Given the description of an element on the screen output the (x, y) to click on. 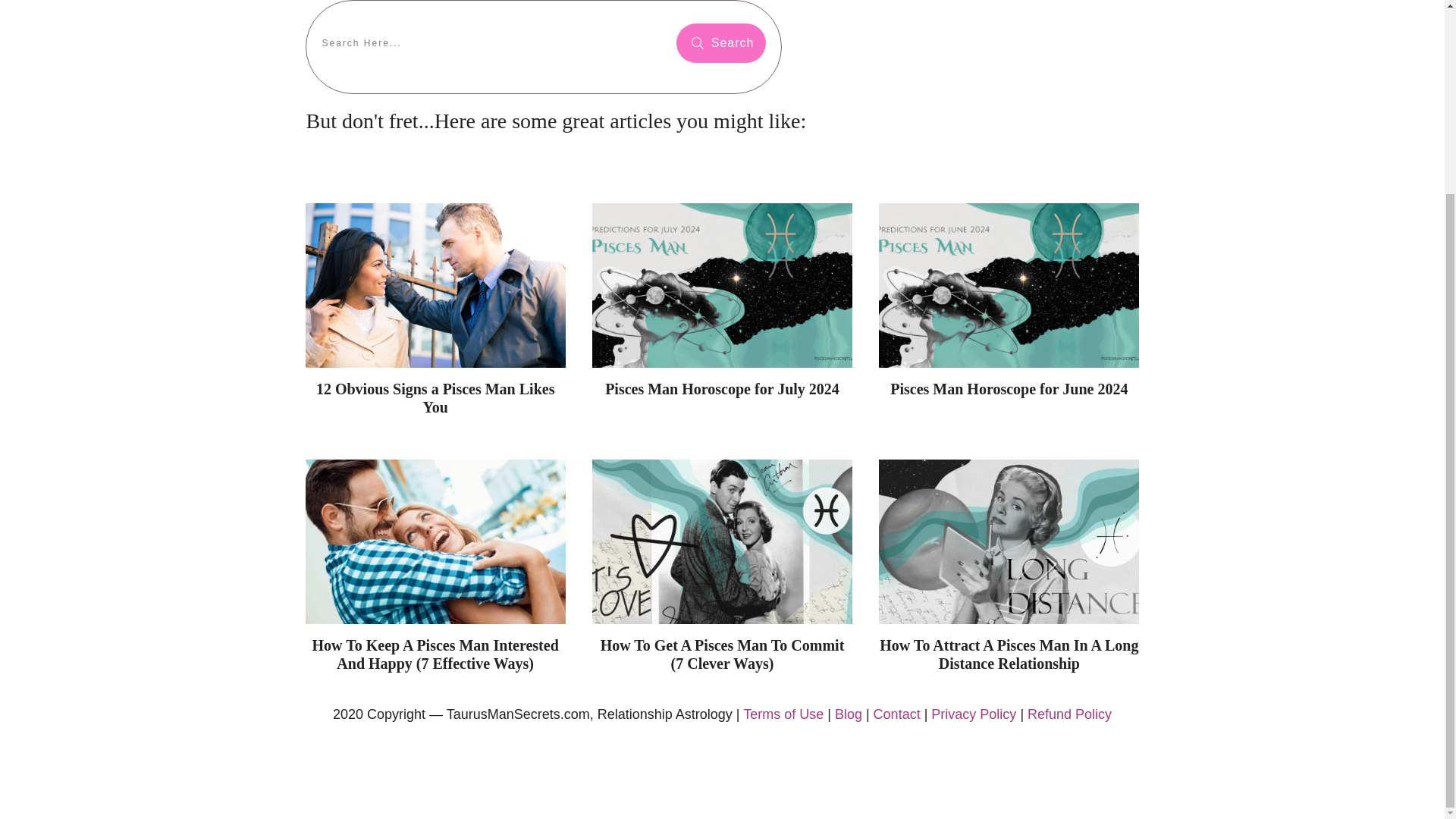
Search (721, 43)
Pisces Man Horoscope for June 2024 (1007, 388)
Blog (847, 713)
Privacy Policy (973, 713)
How To Attract A Pisces Man In A Long Distance Relationship (1008, 654)
Pisces Man Horoscope for June 2024 (1007, 388)
Terms of Use (783, 713)
Pisces Man Horoscope for July 2024 (722, 388)
Refund Policy (1069, 713)
Pisces Man Horoscope for July 2024 (722, 388)
